Given the description of an element on the screen output the (x, y) to click on. 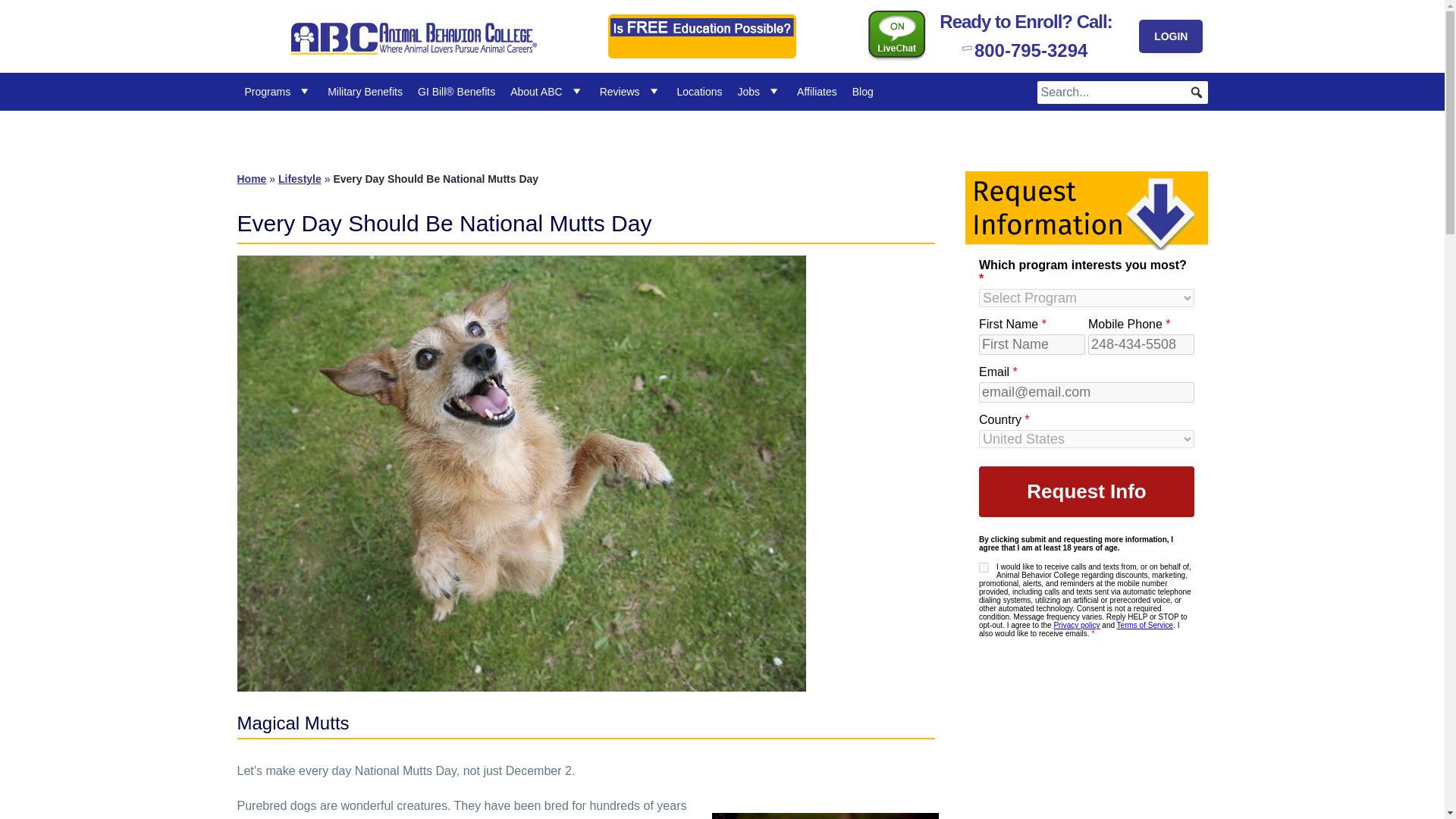
Programs (277, 91)
800-795-3294 (1025, 48)
LOGIN (1170, 36)
Animal Behavior College (366, 60)
Animal Behavior College Locations (699, 91)
Affiliates (816, 91)
